Given the description of an element on the screen output the (x, y) to click on. 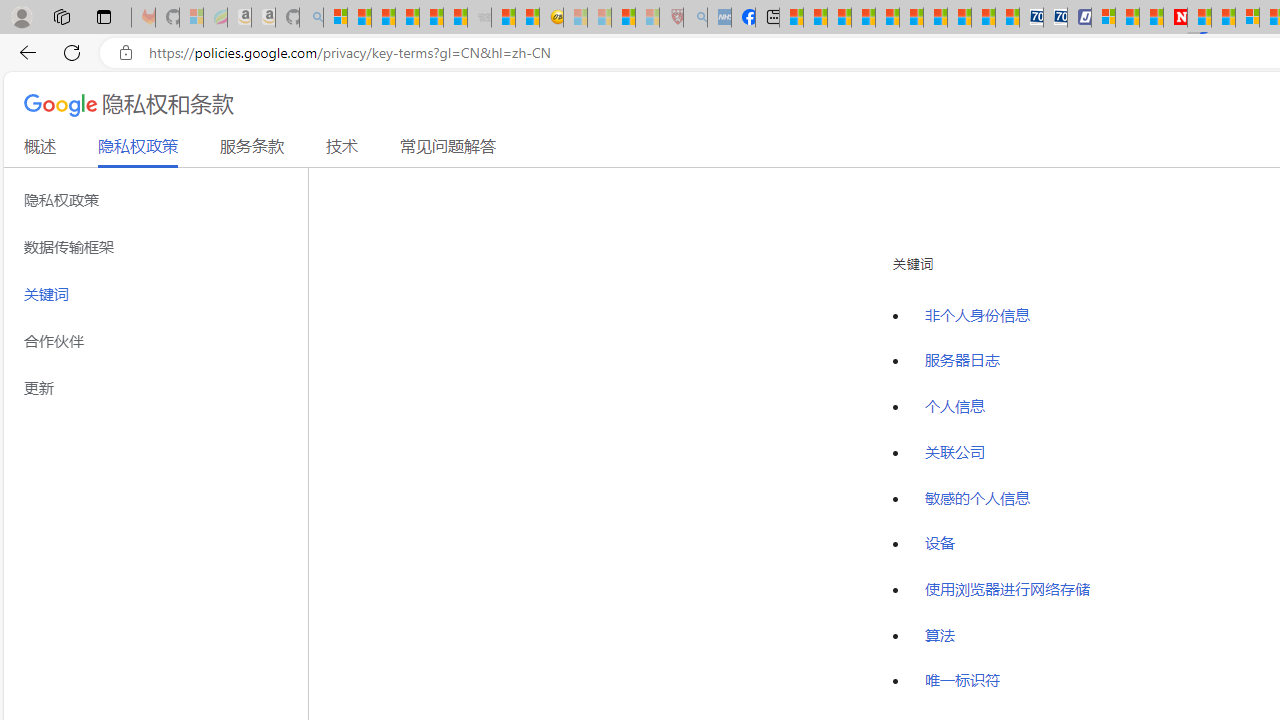
Climate Damage Becomes Too Severe To Reverse (863, 17)
Cheap Hotels - Save70.com (1055, 17)
Combat Siege - Sleeping (479, 17)
Newsweek - News, Analysis, Politics, Business, Technology (1174, 17)
